Given the description of an element on the screen output the (x, y) to click on. 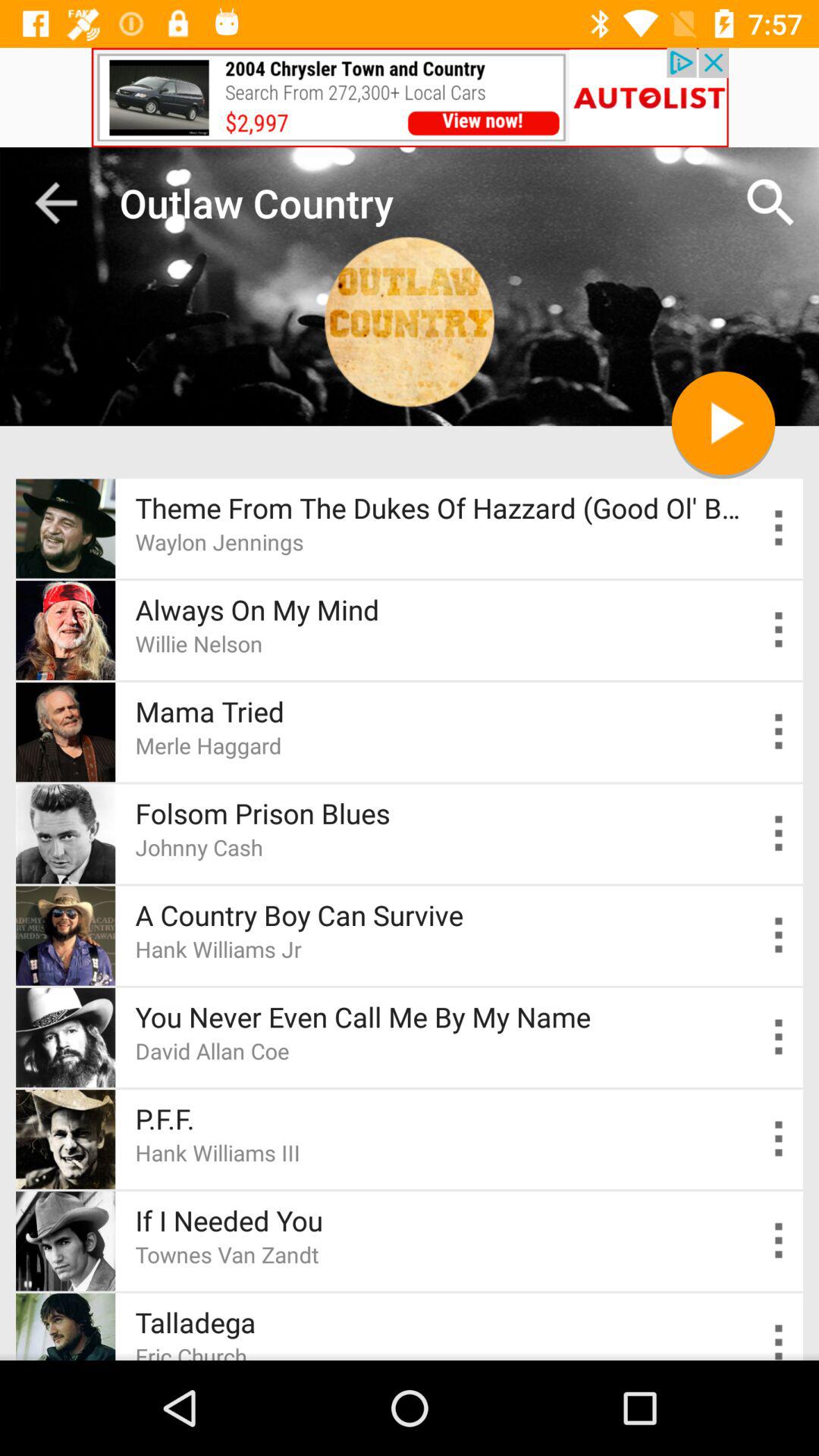
go to song options (779, 630)
